Given the description of an element on the screen output the (x, y) to click on. 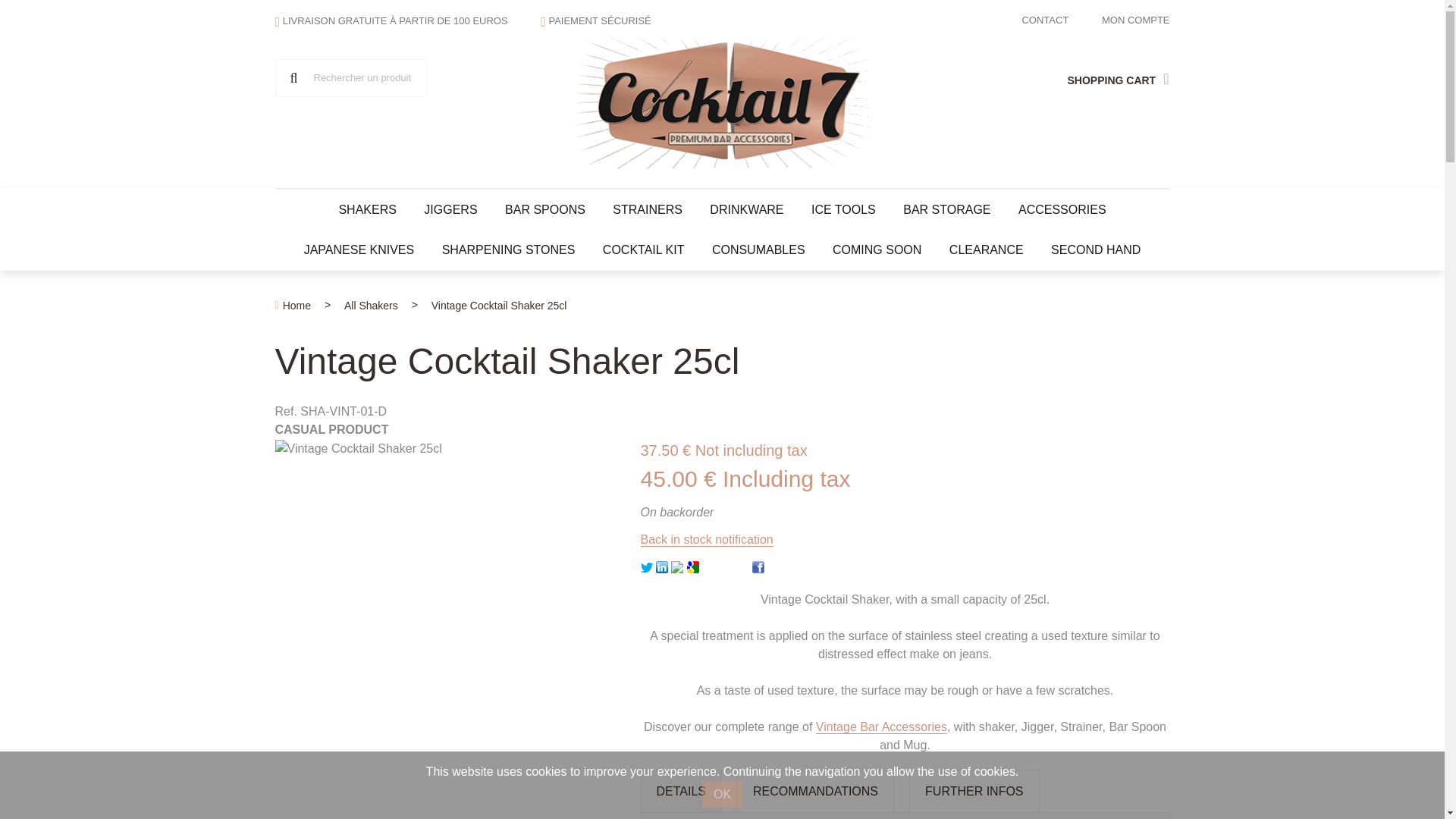
shopping cart (1117, 77)
JIGGERS (450, 209)
Shakers (366, 209)
ok (294, 77)
CONTACT (1045, 19)
English (308, 118)
SHAKERS (366, 209)
SHOPPING CART (1117, 77)
Home page (721, 98)
MON COMPTE (1136, 19)
